Given the description of an element on the screen output the (x, y) to click on. 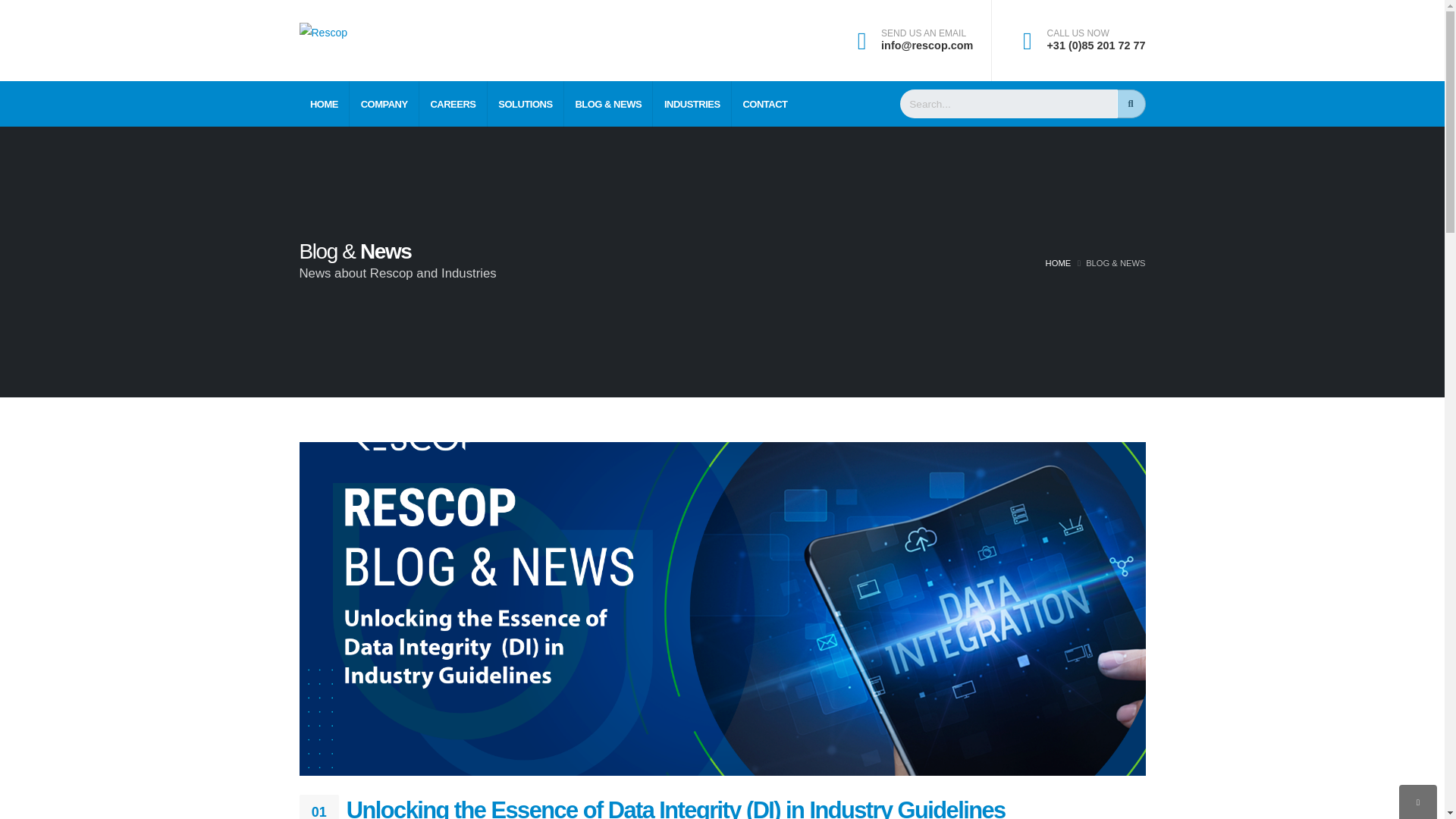
COMPANY (384, 104)
CAREERS (453, 104)
SOLUTIONS (525, 104)
HOME (323, 104)
